Given the description of an element on the screen output the (x, y) to click on. 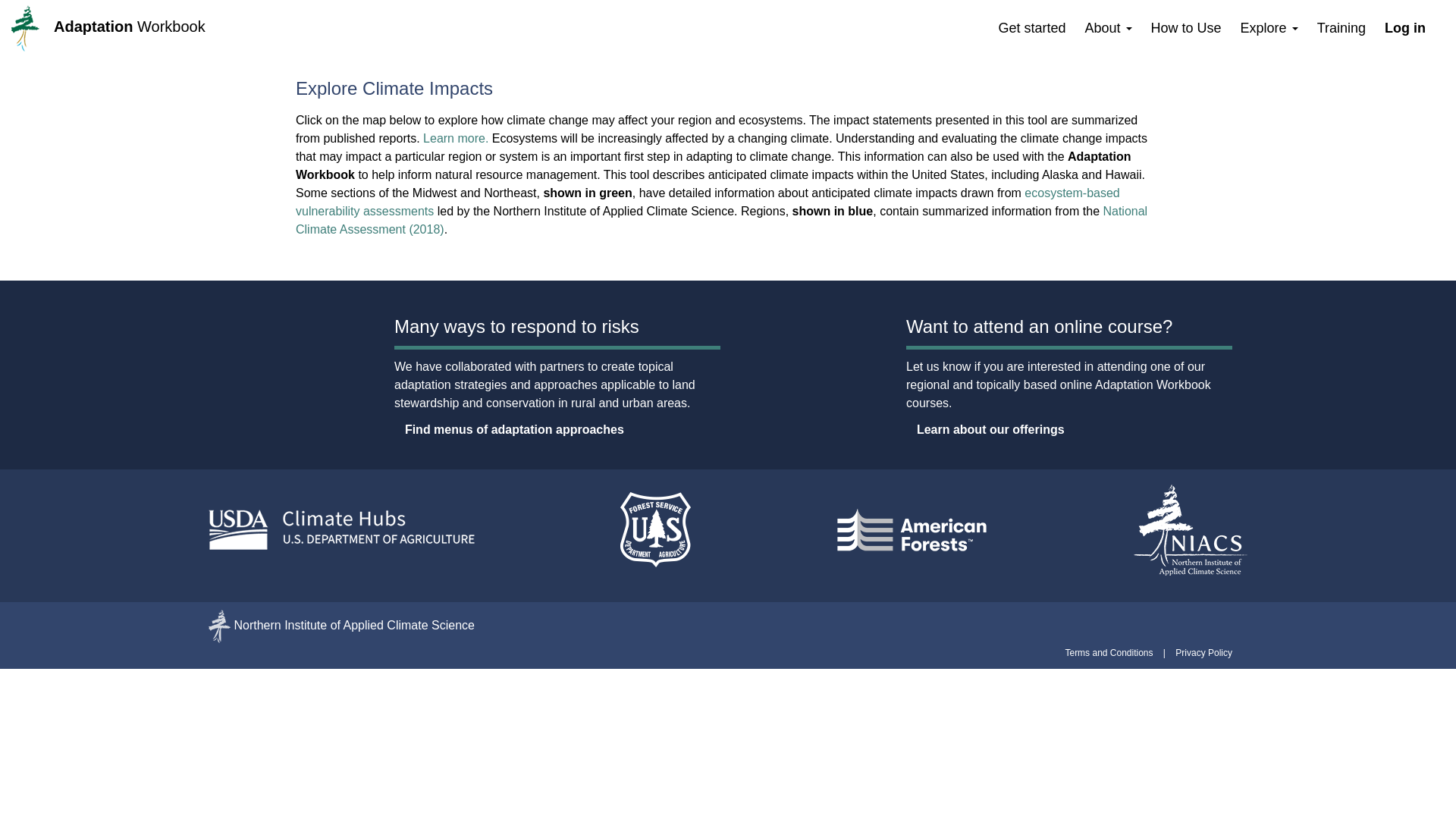
About (1107, 27)
Log in (1404, 27)
About the Adaptation Workbook (1107, 27)
Home (32, 27)
Home (129, 26)
Register for an account (1031, 27)
  Find menus of adaptation approaches (509, 429)
How to use the Adaptation Workbook (1186, 27)
Get started (1031, 27)
Online Training (1341, 27)
